Given the description of an element on the screen output the (x, y) to click on. 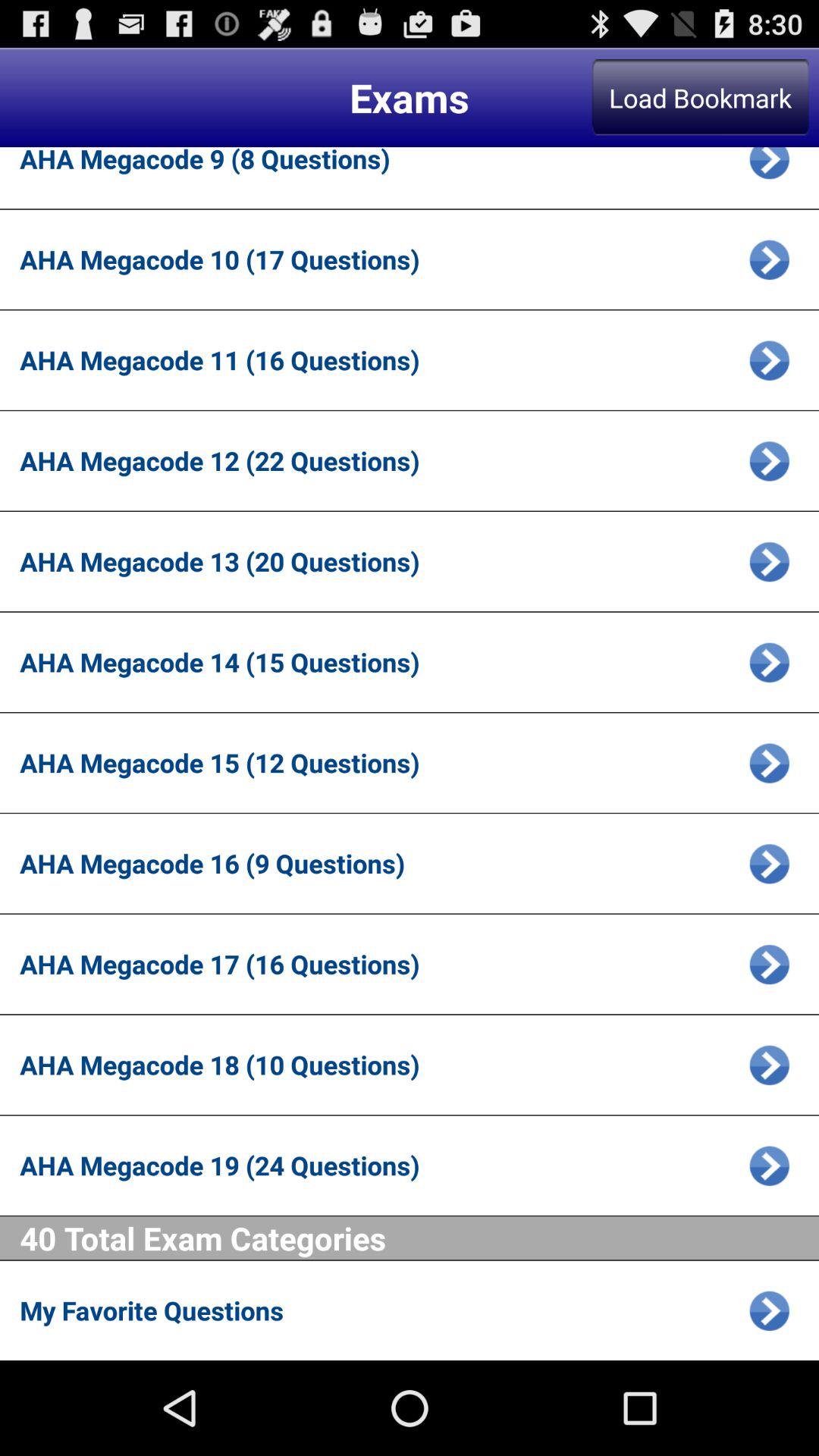
swipe until the my favorite questions app (379, 1310)
